Given the description of an element on the screen output the (x, y) to click on. 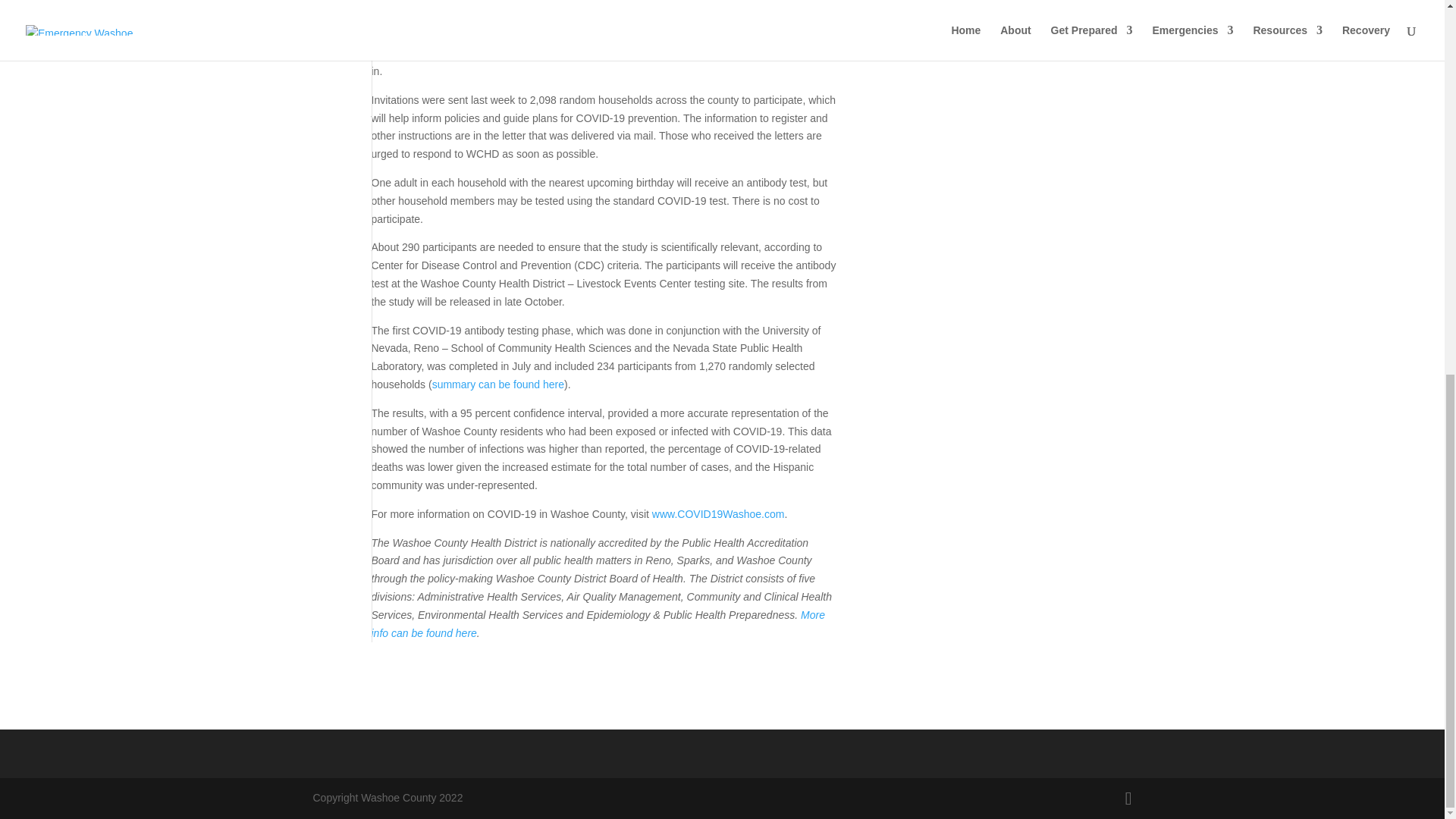
www.COVID19Washoe.com (718, 513)
More info can be found here (598, 624)
summary can be found here (498, 384)
